Given the description of an element on the screen output the (x, y) to click on. 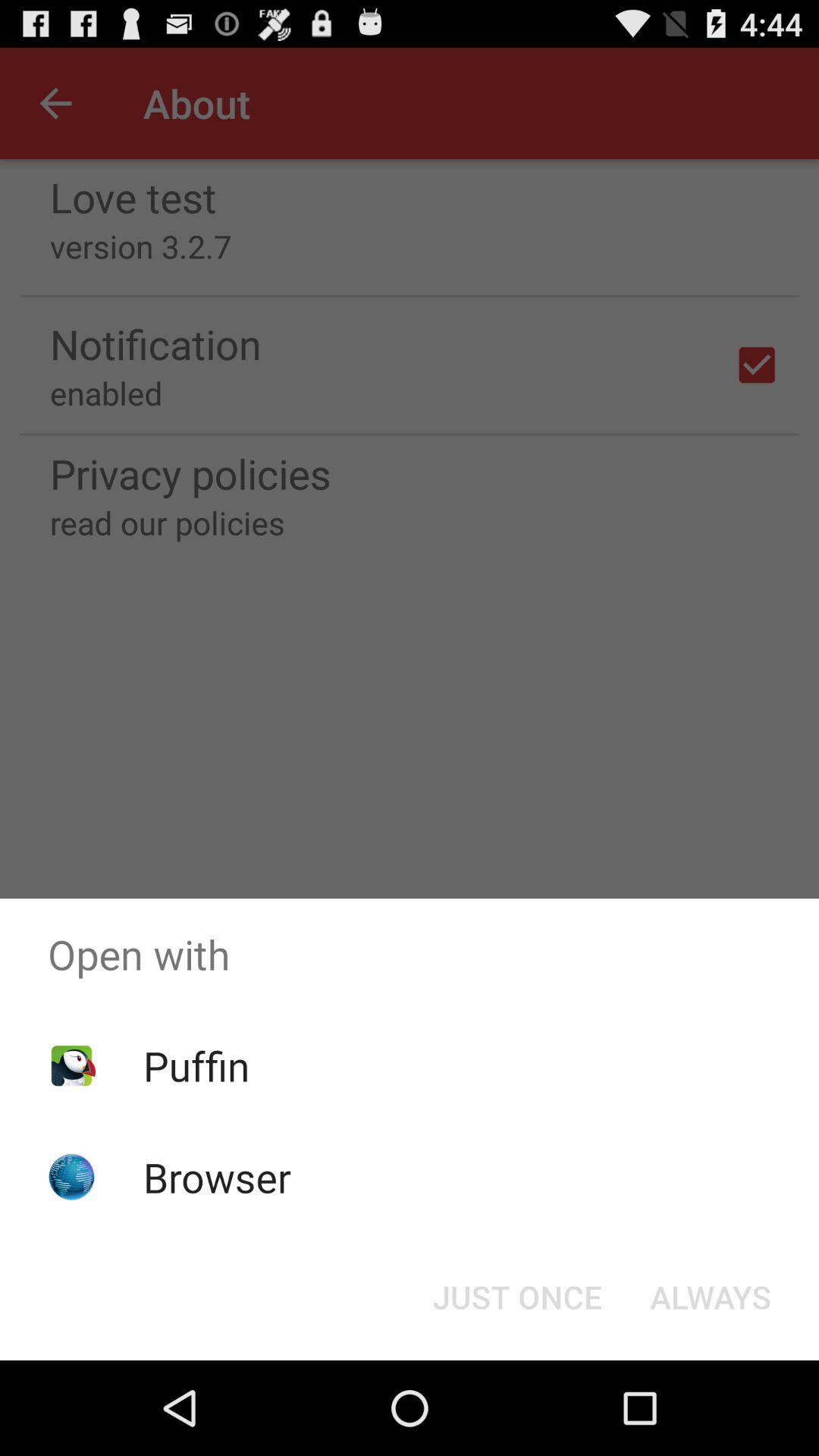
press the puffin app (196, 1065)
